Given the description of an element on the screen output the (x, y) to click on. 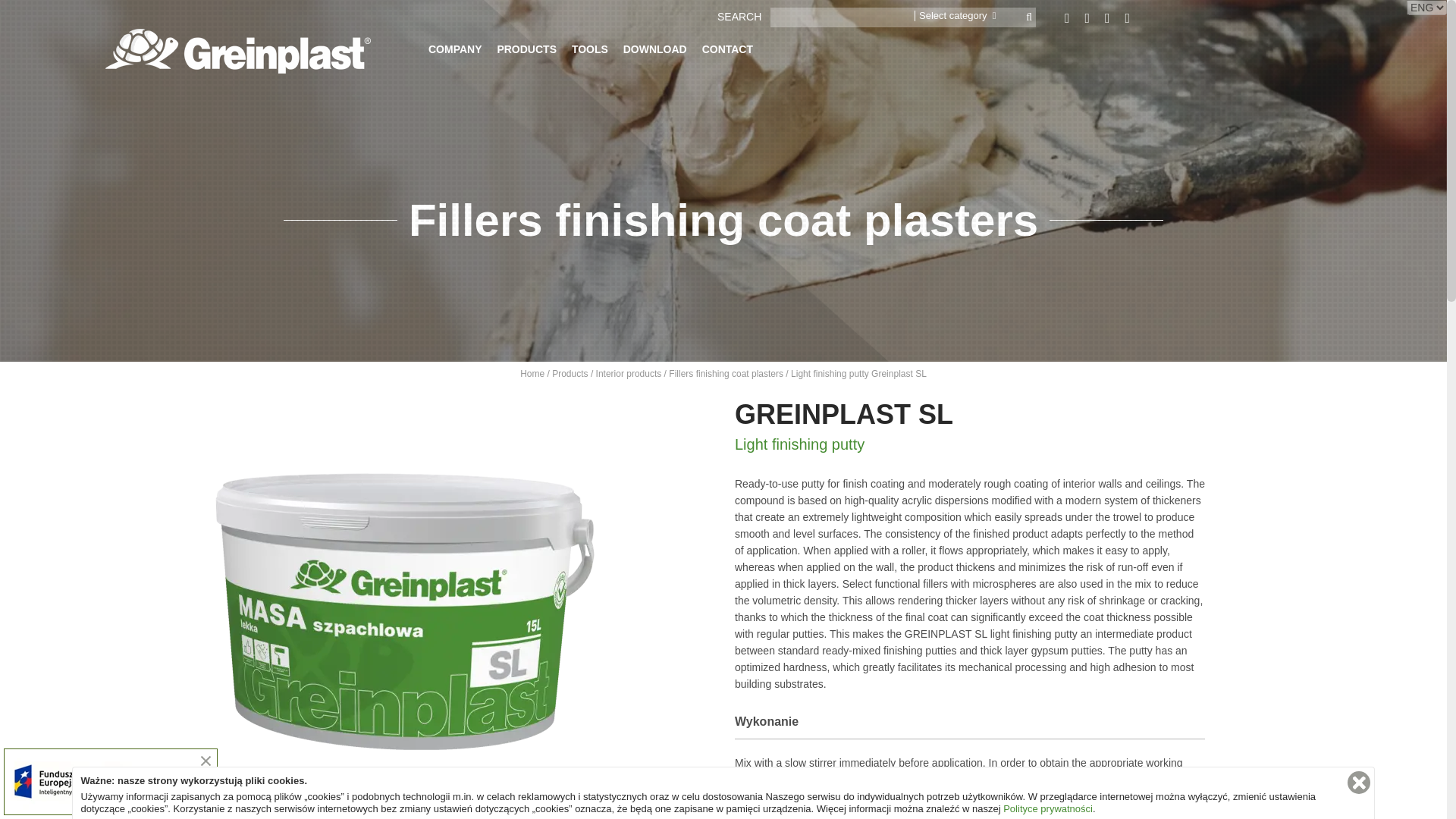
Company (454, 53)
GREINPLAST Sp.z o.o. (237, 50)
Download (655, 53)
CONTACT (726, 53)
COMPANY (454, 53)
Products (569, 373)
TOOLS (590, 53)
PRODUCTS (526, 53)
DOWNLOAD (655, 53)
Tools (590, 53)
Products (526, 53)
Interior products (628, 373)
Home (531, 373)
